Given the description of an element on the screen output the (x, y) to click on. 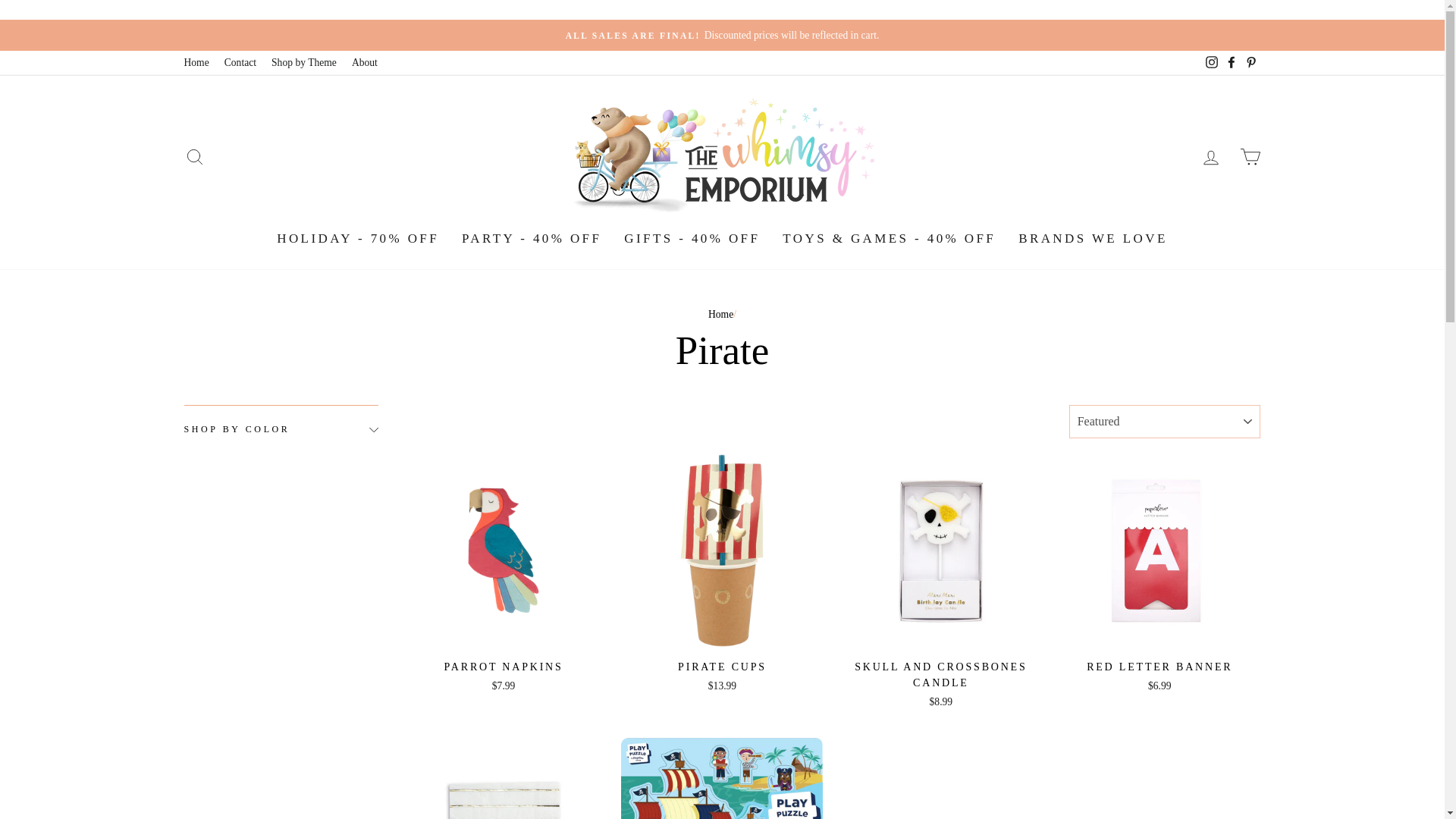
Back to the frontpage (720, 314)
